Given the description of an element on the screen output the (x, y) to click on. 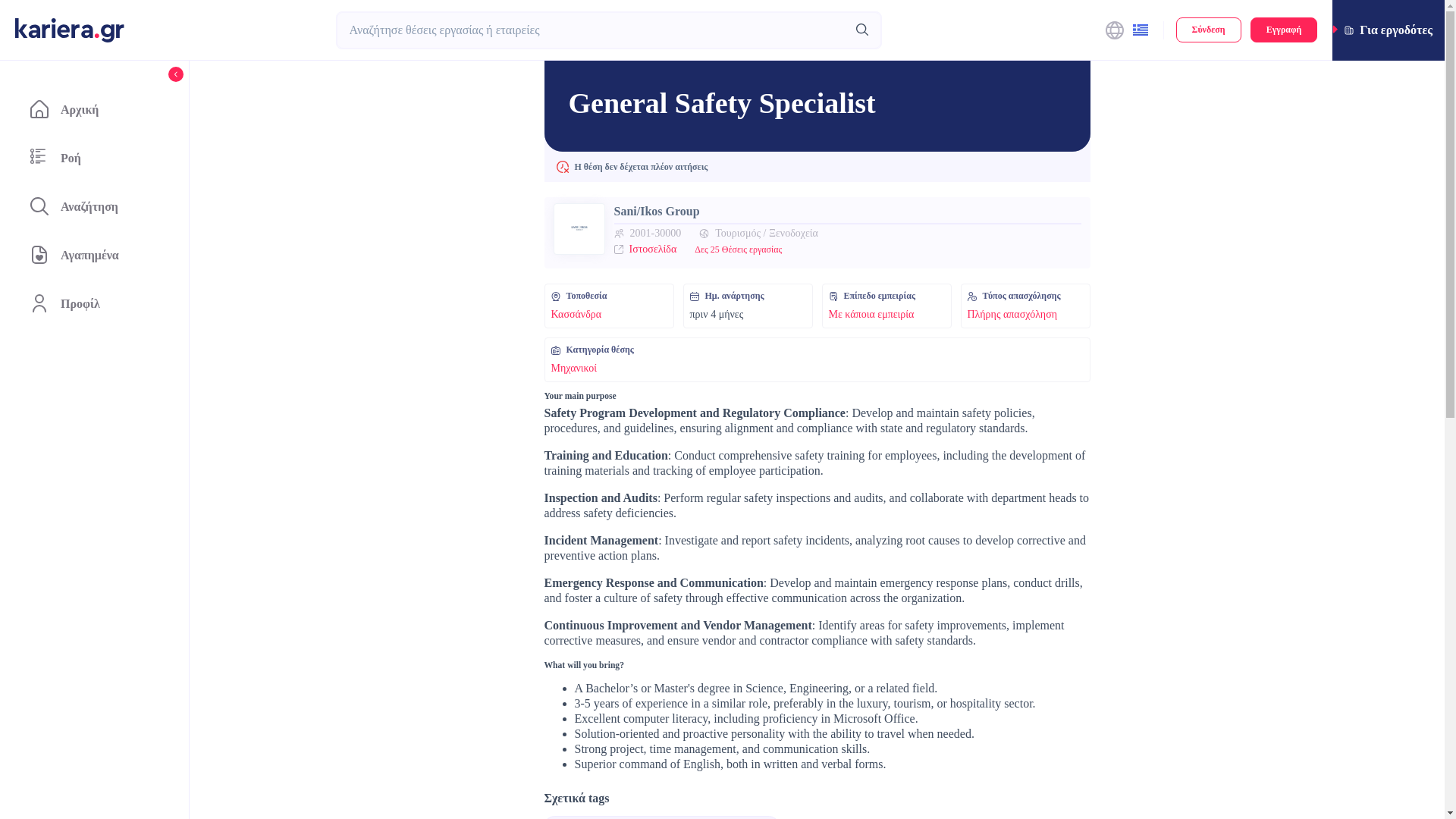
engineering, safety policies, construction, emergency plans (661, 817)
